Given the description of an element on the screen output the (x, y) to click on. 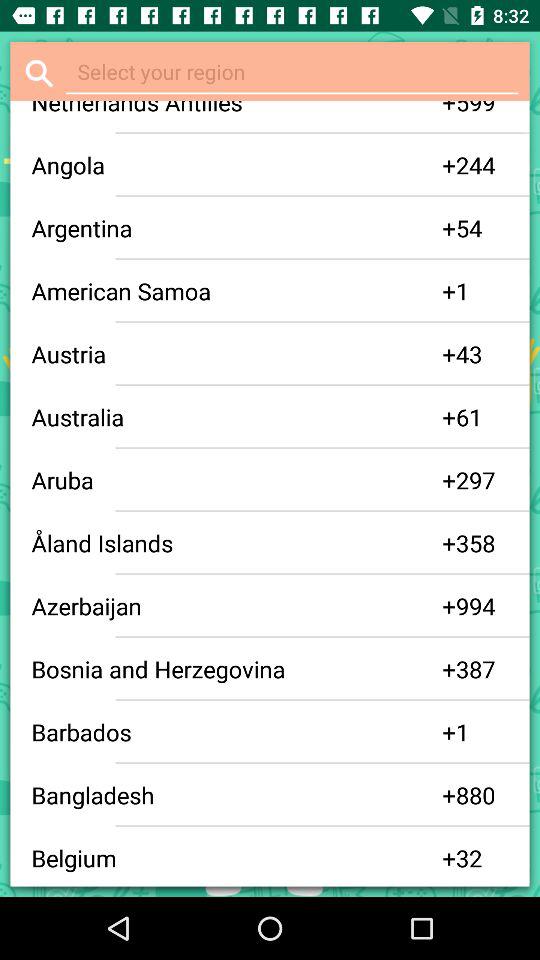
turn on app next to the + icon (236, 858)
